Given the description of an element on the screen output the (x, y) to click on. 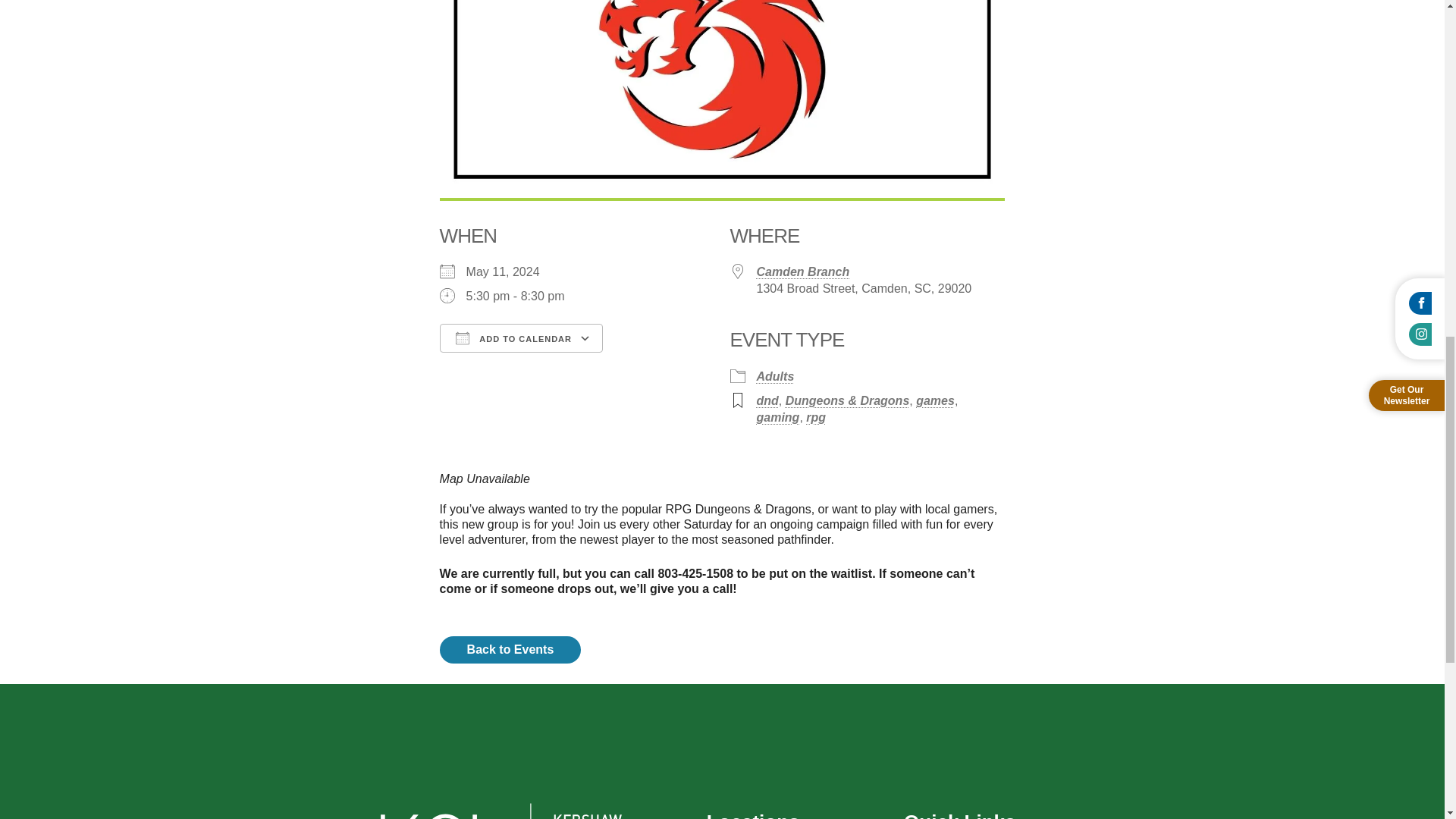
games (935, 400)
Camden Branch (803, 271)
Google Calendar (664, 364)
Adults (775, 376)
Back to Events (509, 649)
gaming (778, 417)
Download ICS (513, 364)
rpg (815, 417)
dnd (767, 400)
ADD TO CALENDAR (520, 337)
